Given the description of an element on the screen output the (x, y) to click on. 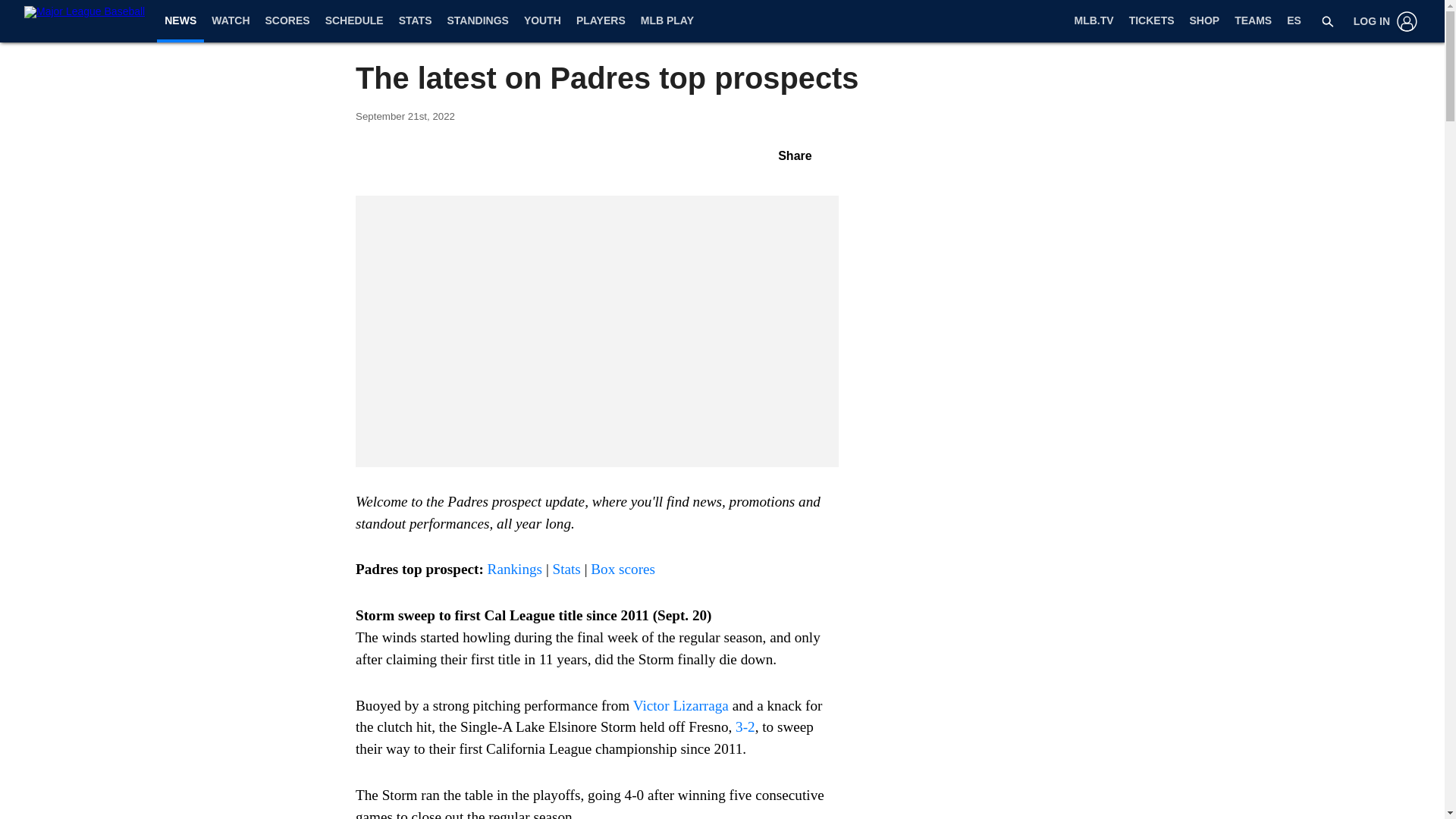
NEWS (180, 19)
SCHEDULE (354, 21)
STANDINGS (477, 21)
STATS (415, 21)
WATCH (230, 21)
search-54554 (1327, 21)
SCORES (287, 21)
